Given the description of an element on the screen output the (x, y) to click on. 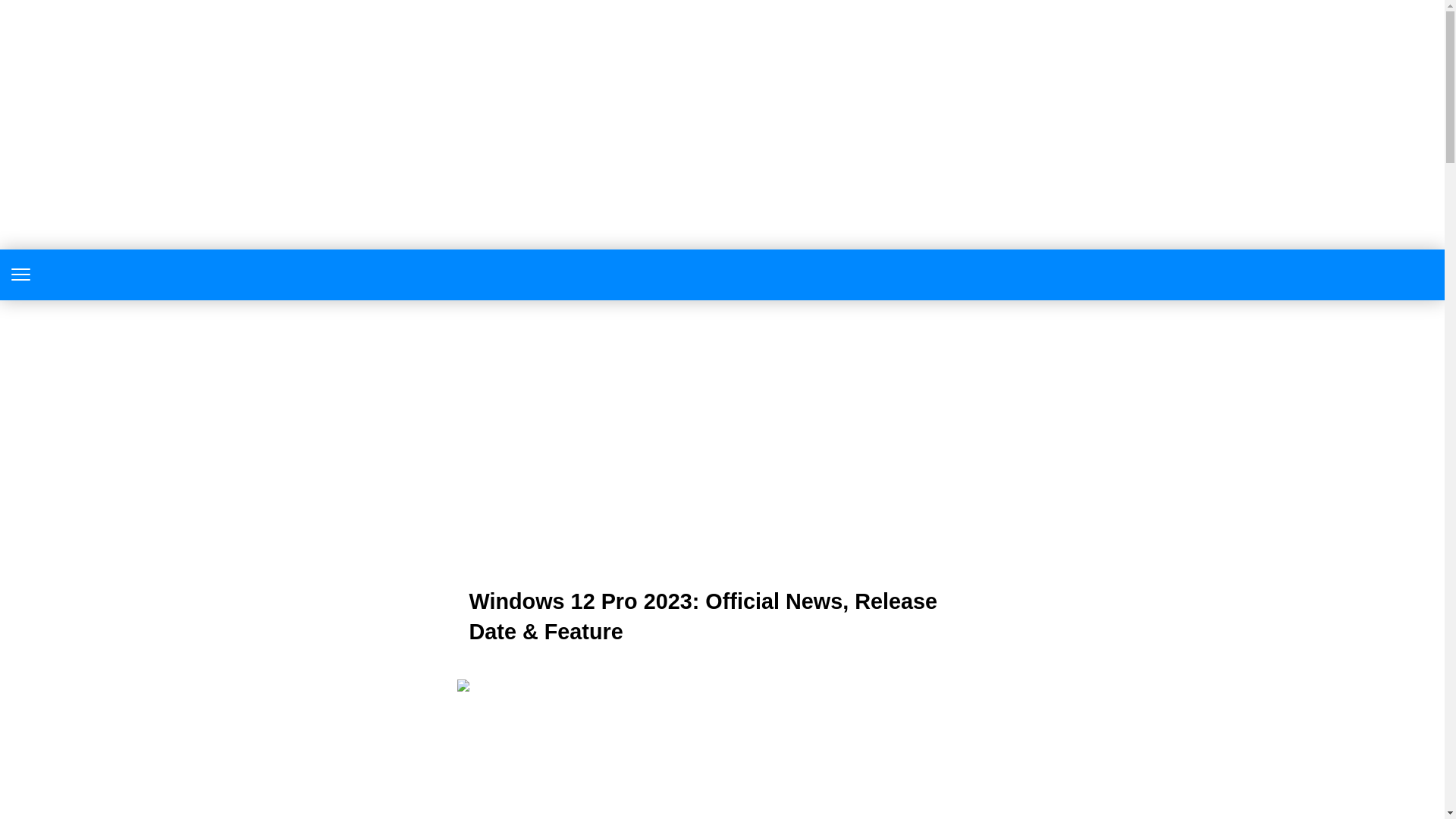
Smartphone Model (721, 274)
